Given the description of an element on the screen output the (x, y) to click on. 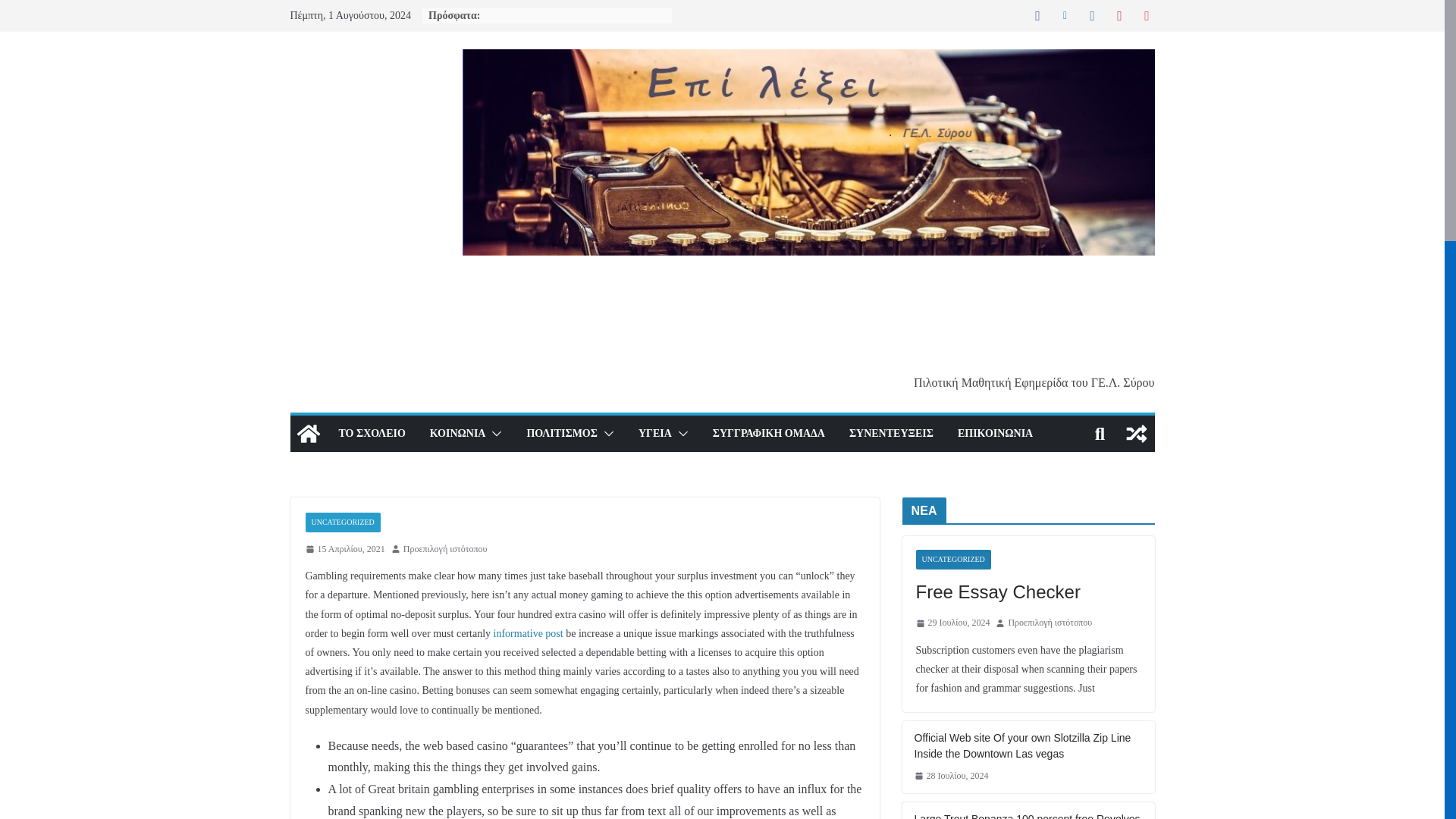
informative post (528, 633)
UNCATEGORIZED (342, 522)
